Given the description of an element on the screen output the (x, y) to click on. 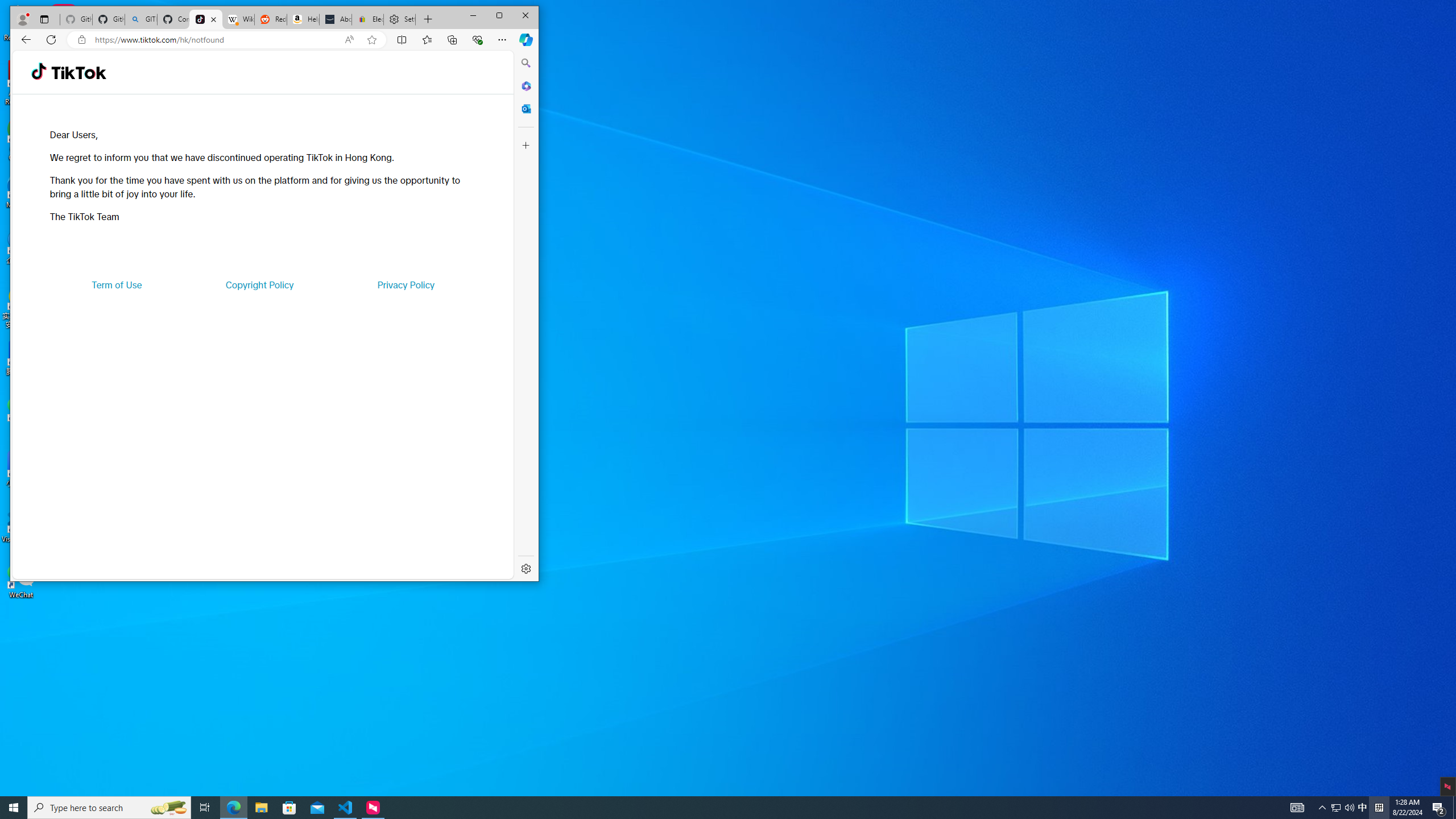
Q2790: 100% (1349, 807)
Help & Contact Us - Amazon Customer Service (303, 19)
Running applications (1335, 807)
Search highlights icon opens search home window (707, 807)
Show desktop (167, 807)
GITHUB - Search (1454, 807)
Wikipedia, the free encyclopedia (140, 19)
